Given the description of an element on the screen output the (x, y) to click on. 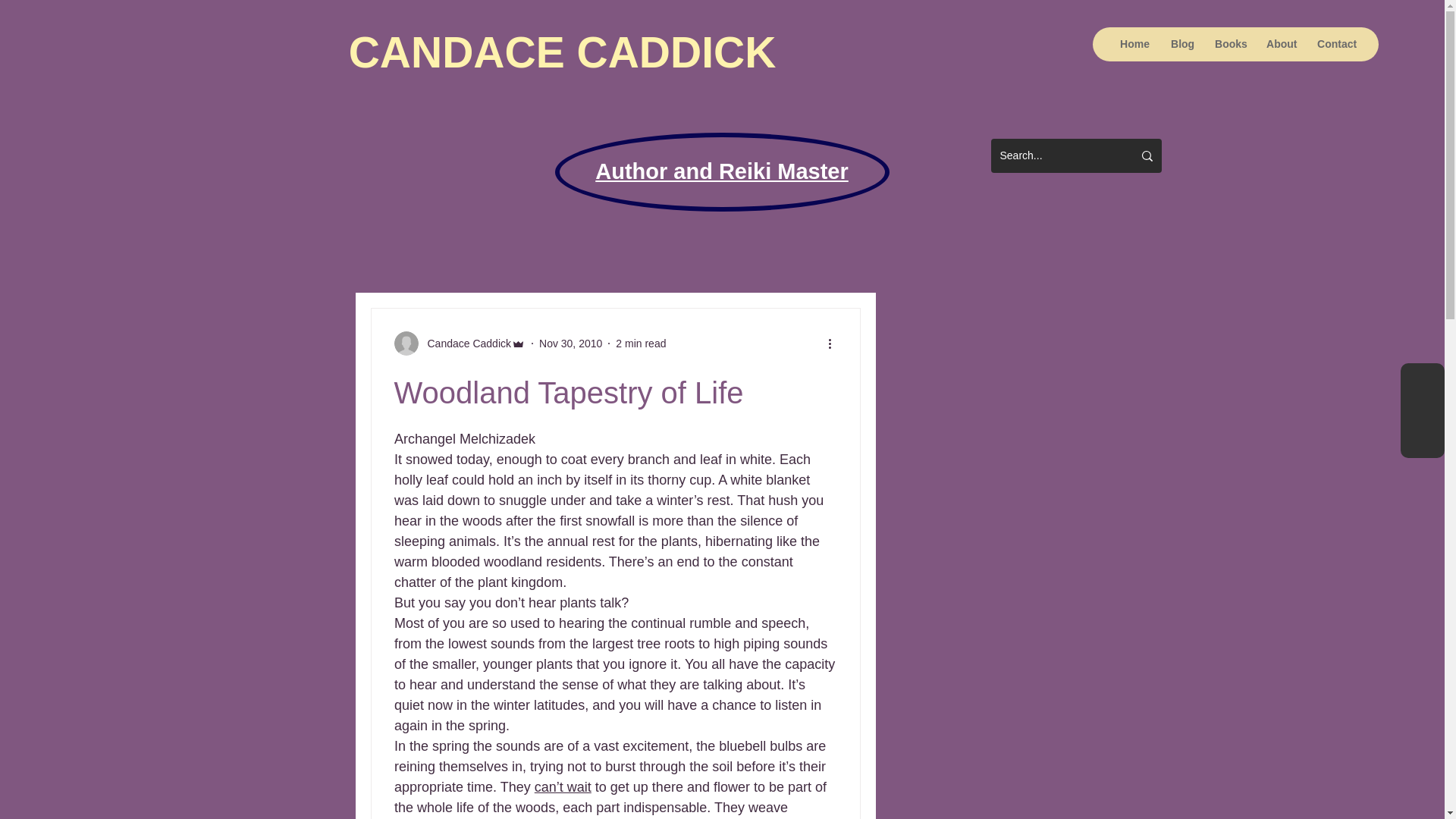
Author and Reiki Master (721, 170)
About (1278, 44)
CANDACE CADDICK (562, 51)
Books (1227, 44)
Nov 30, 2010 (570, 342)
2 min read (640, 342)
Contact (1333, 44)
Home (1133, 44)
Blog (1180, 44)
Candace Caddick (465, 342)
